Given the description of an element on the screen output the (x, y) to click on. 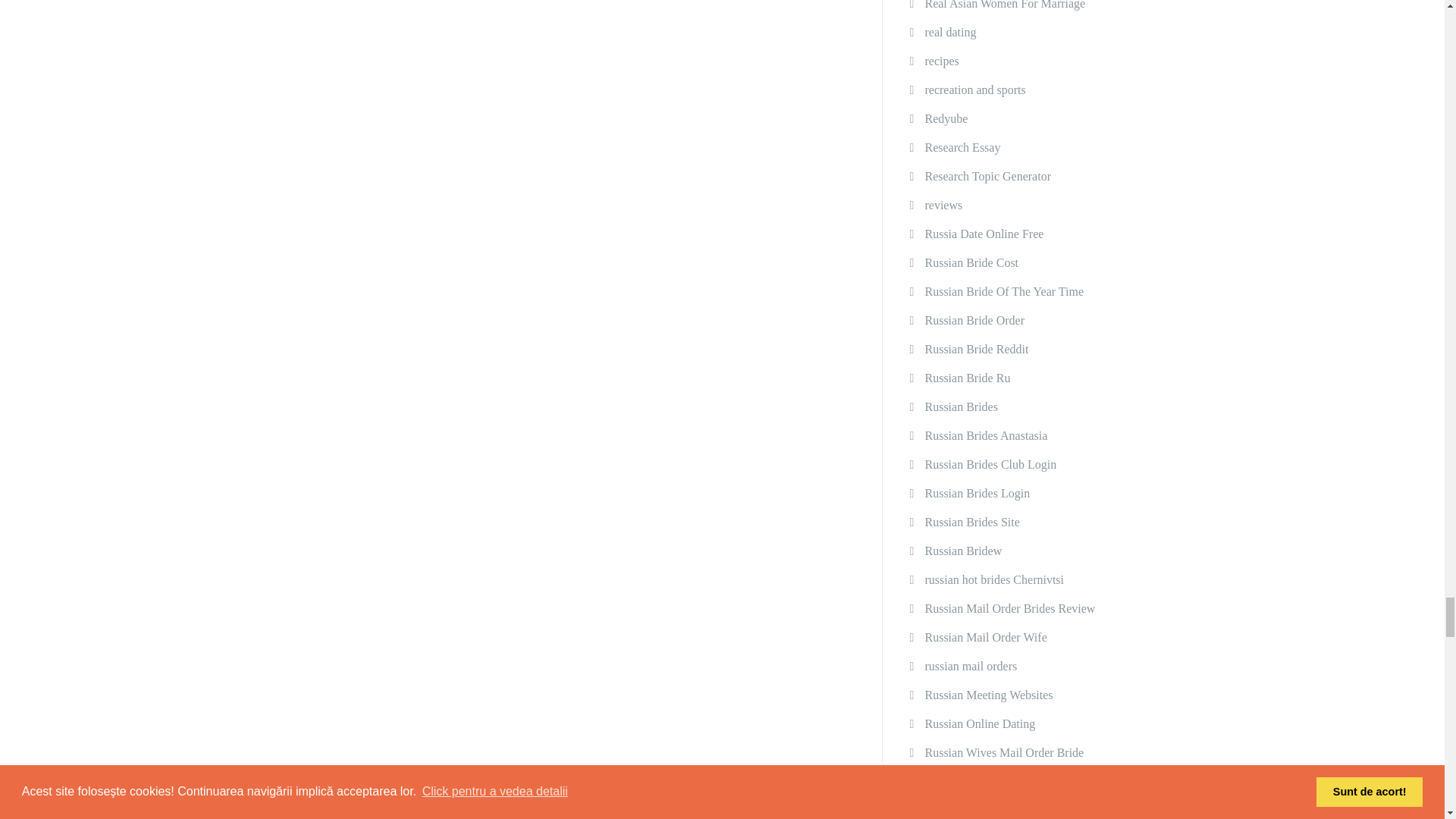
recipes (941, 61)
recreation and sports (974, 90)
